Given the description of an element on the screen output the (x, y) to click on. 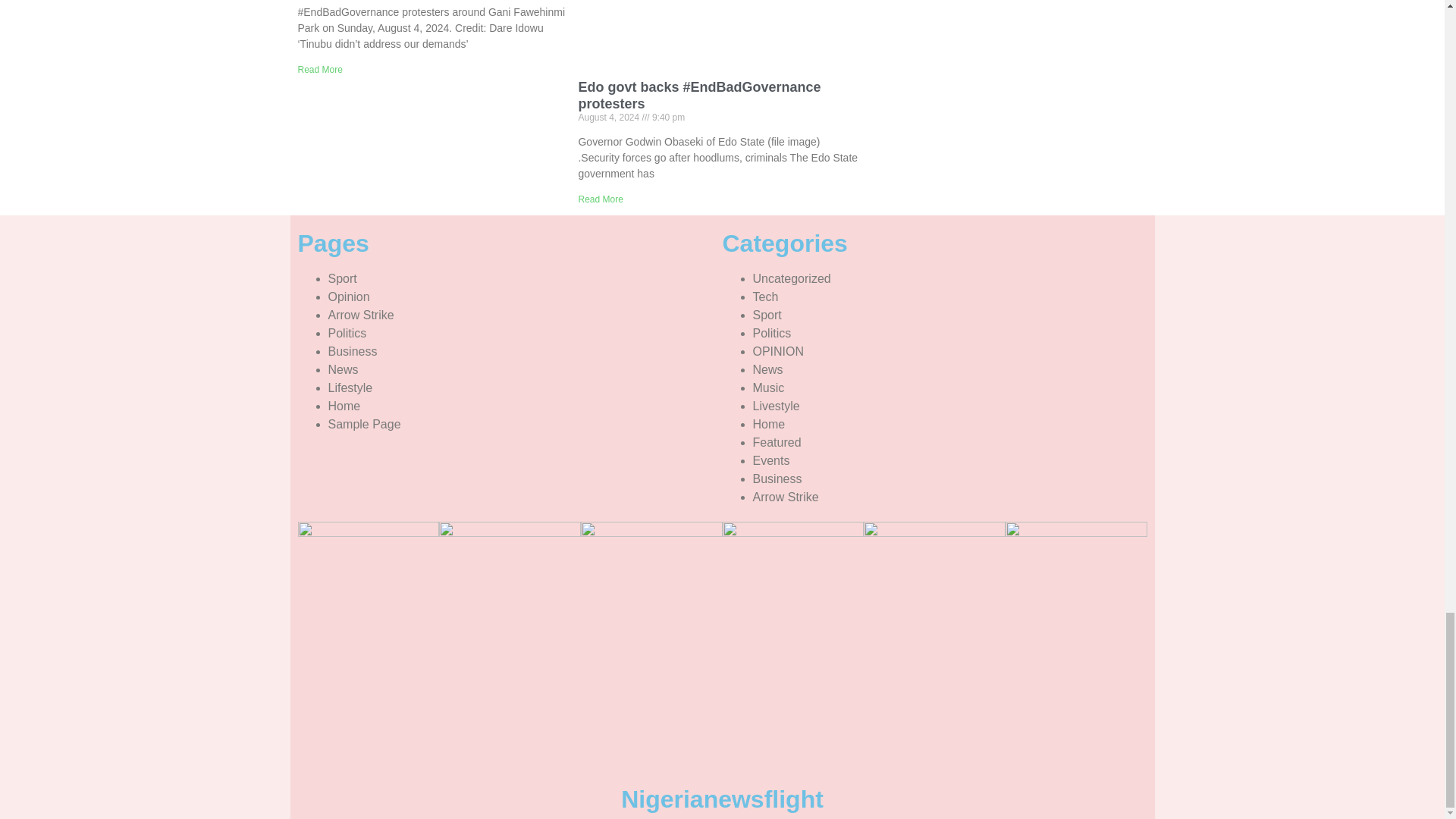
Read More (319, 69)
Read More (600, 199)
